Given the description of an element on the screen output the (x, y) to click on. 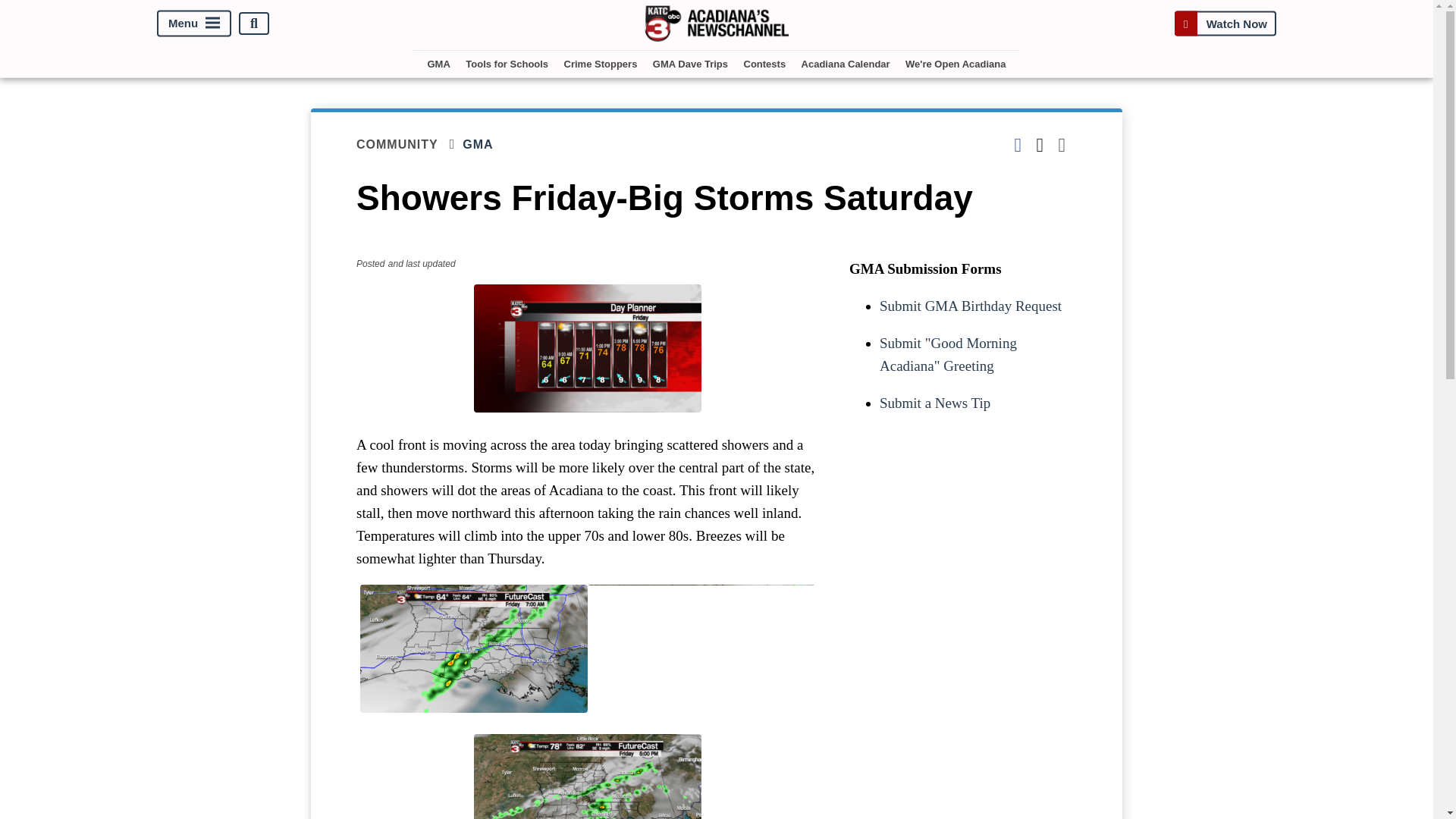
Menu (194, 23)
Watch Now (1224, 23)
